Given the description of an element on the screen output the (x, y) to click on. 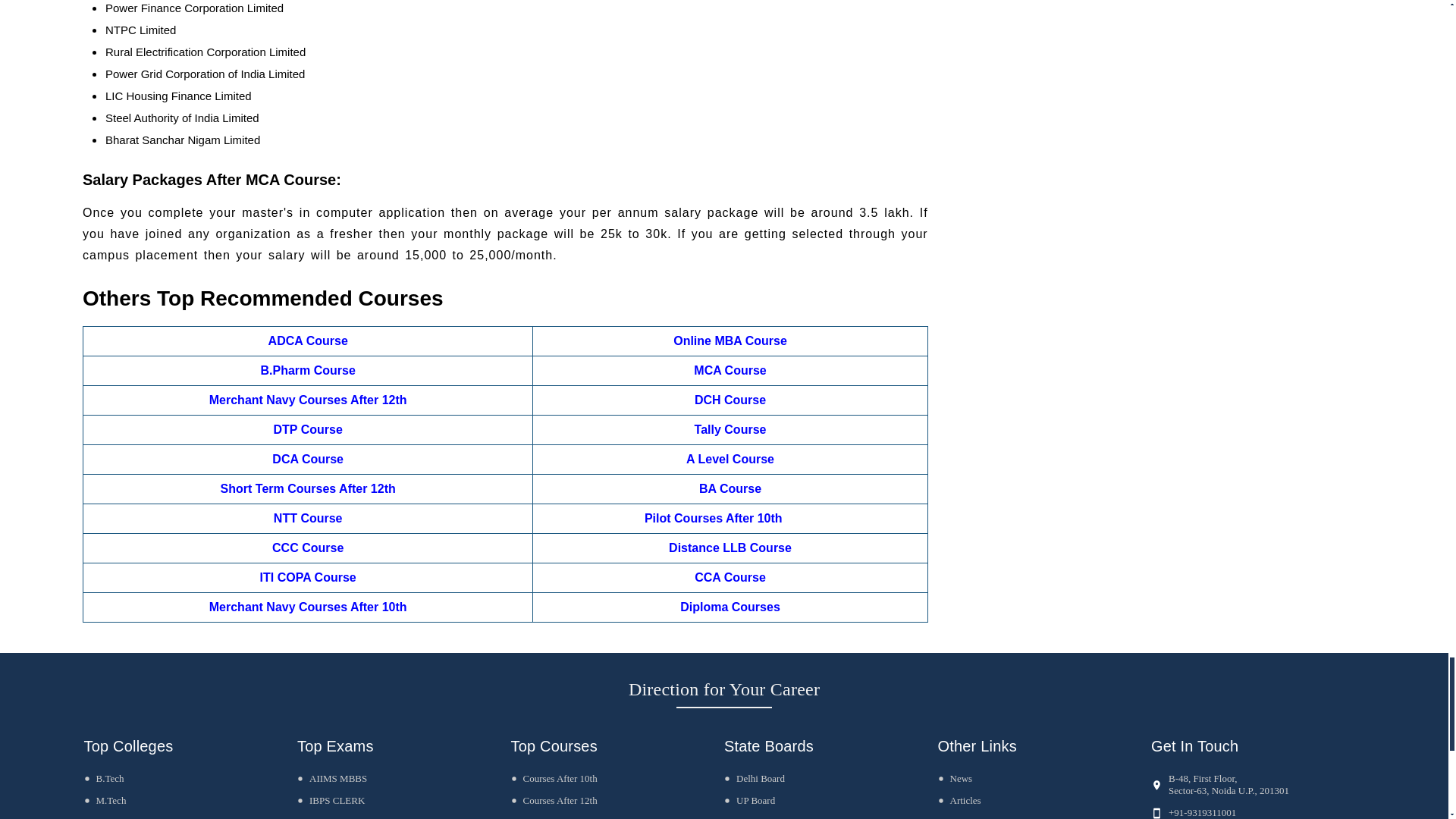
Diploma Courses (729, 606)
BCA (99, 817)
DCA Course (307, 459)
Merchant Navy Courses After 10th (308, 606)
IBPS CLERK (331, 799)
A Level Course (729, 459)
Courses After 10th (553, 778)
Short Term Courses After 12th (308, 488)
DCH Course (729, 399)
AIIMS MBBS (331, 778)
